Given the description of an element on the screen output the (x, y) to click on. 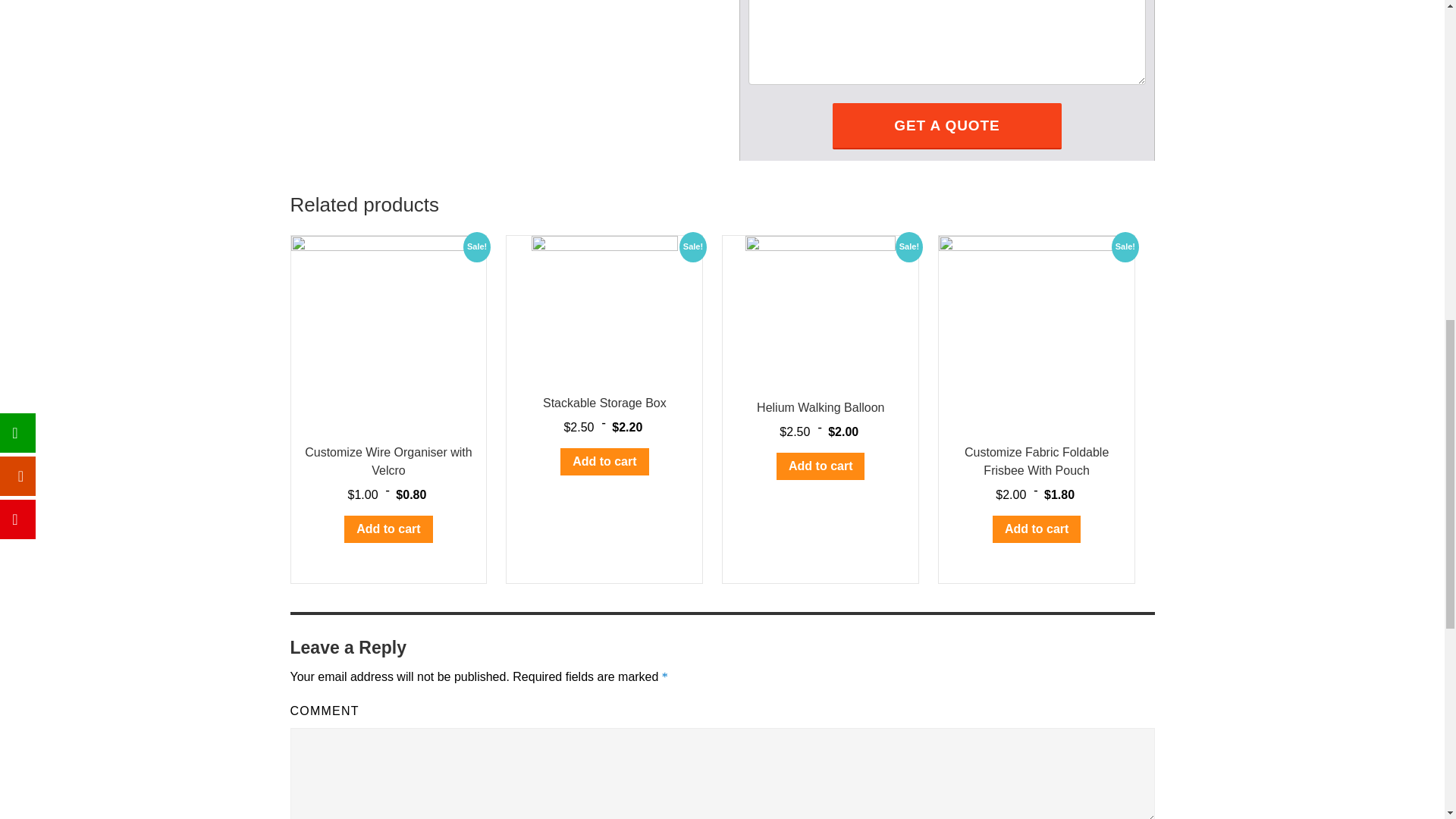
Add to cart (387, 528)
GET A QUOTE (946, 126)
Add to cart (603, 461)
GET A QUOTE (946, 126)
